Given the description of an element on the screen output the (x, y) to click on. 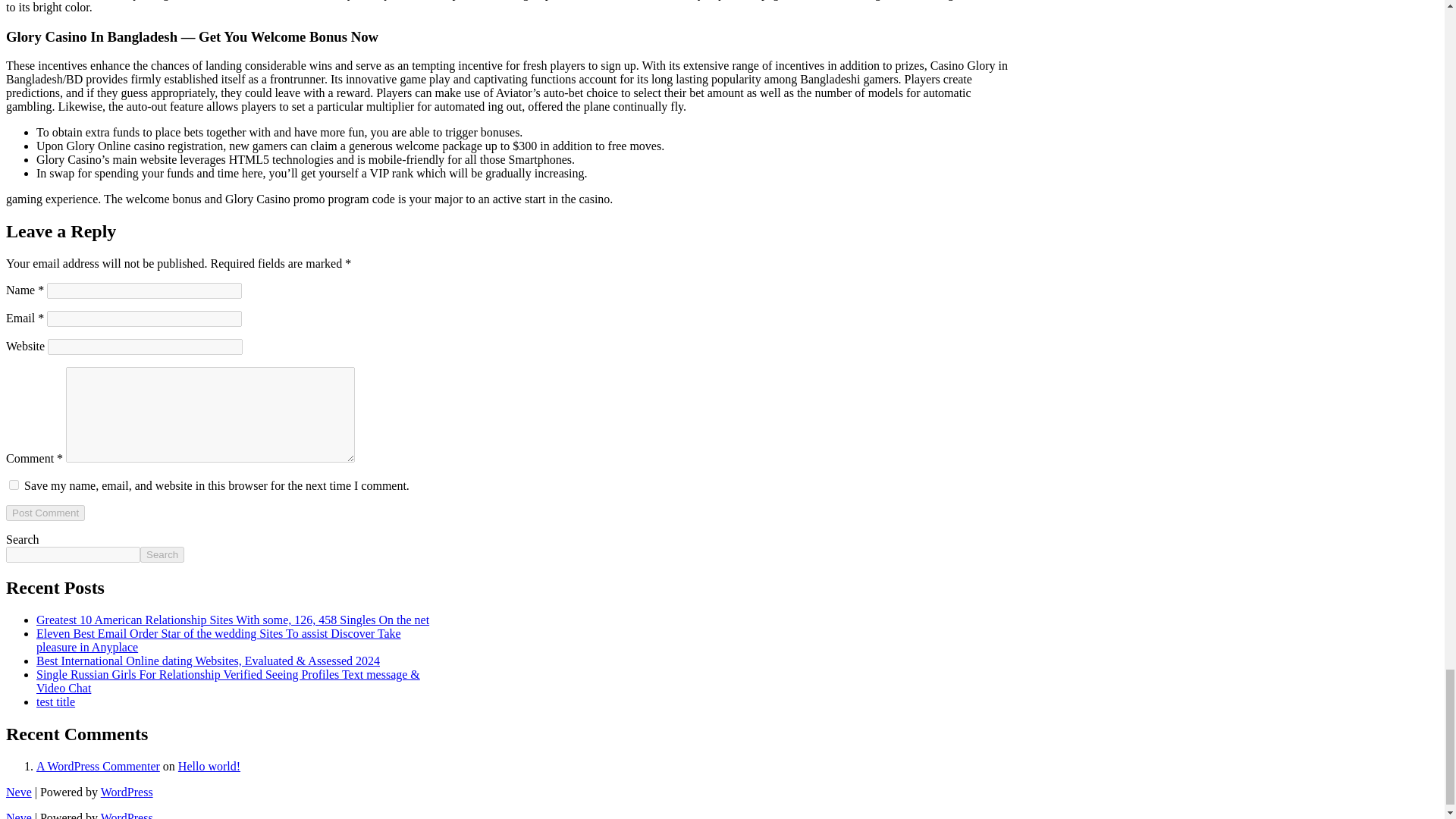
Post Comment (44, 512)
yes (13, 484)
